Given the description of an element on the screen output the (x, y) to click on. 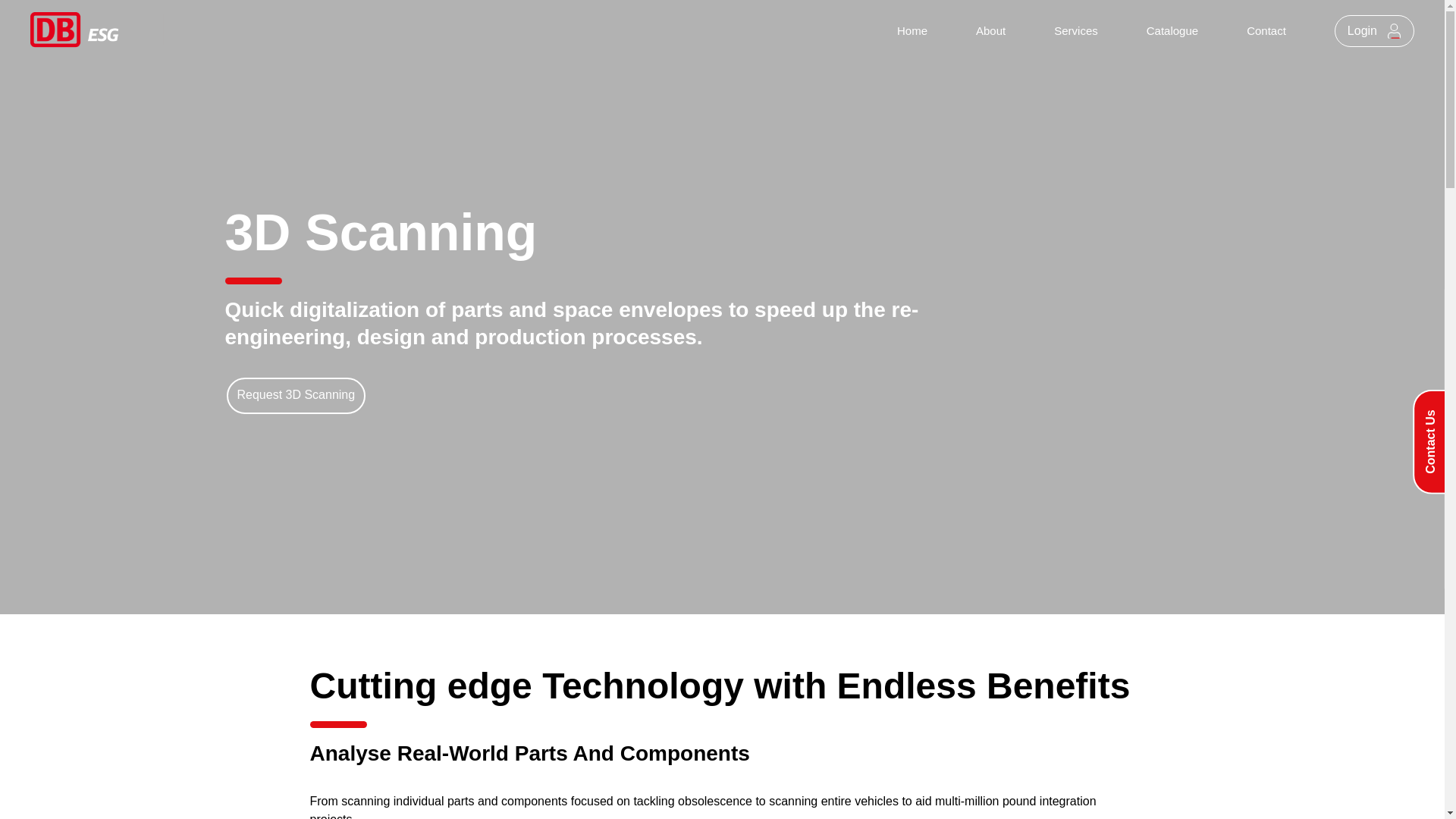
Catalogue (1172, 31)
Contact (1265, 31)
Services (1075, 31)
About (990, 31)
Login (1374, 30)
Request 3D Scanning (295, 395)
Home (911, 31)
